Given the description of an element on the screen output the (x, y) to click on. 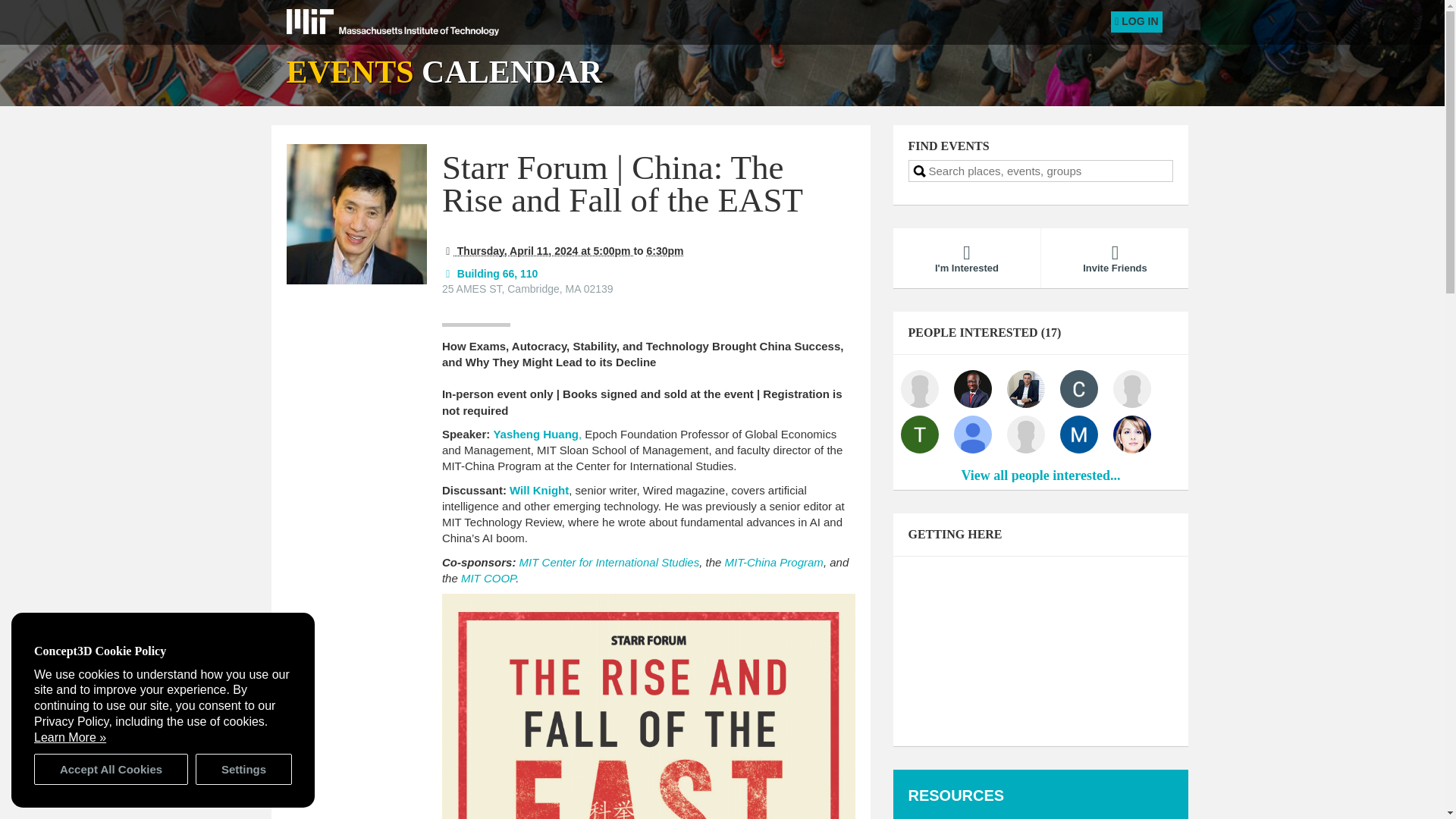
MIT Center for International Studies (609, 562)
LOG IN (1135, 21)
2024-04-11T18:30:00-04:00 (665, 250)
MIT COOP (488, 577)
MIT-China Program (774, 562)
Will Knight (539, 490)
Event Location Map (1041, 651)
Yasheng Huang (535, 433)
Building 66, 110 (489, 272)
EVENTS CALENDAR (444, 71)
2024-04-11T17:00:00-04:00 (537, 250)
